Given the description of an element on the screen output the (x, y) to click on. 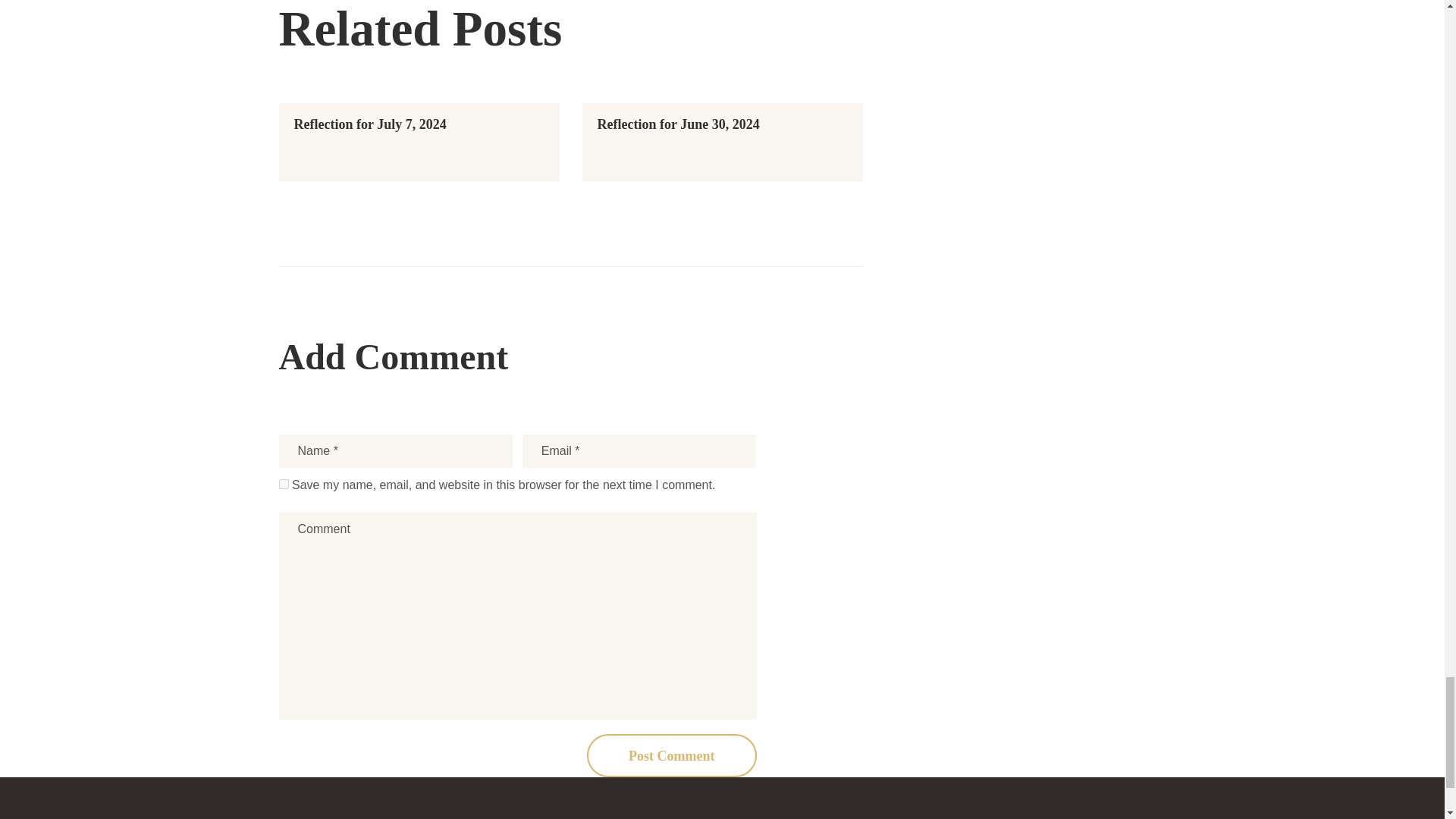
Post Comment (671, 755)
Post Comment (671, 755)
Reflection for July 7, 2024 (370, 124)
yes (283, 483)
Reflection for June 30, 2024 (678, 124)
